Given the description of an element on the screen output the (x, y) to click on. 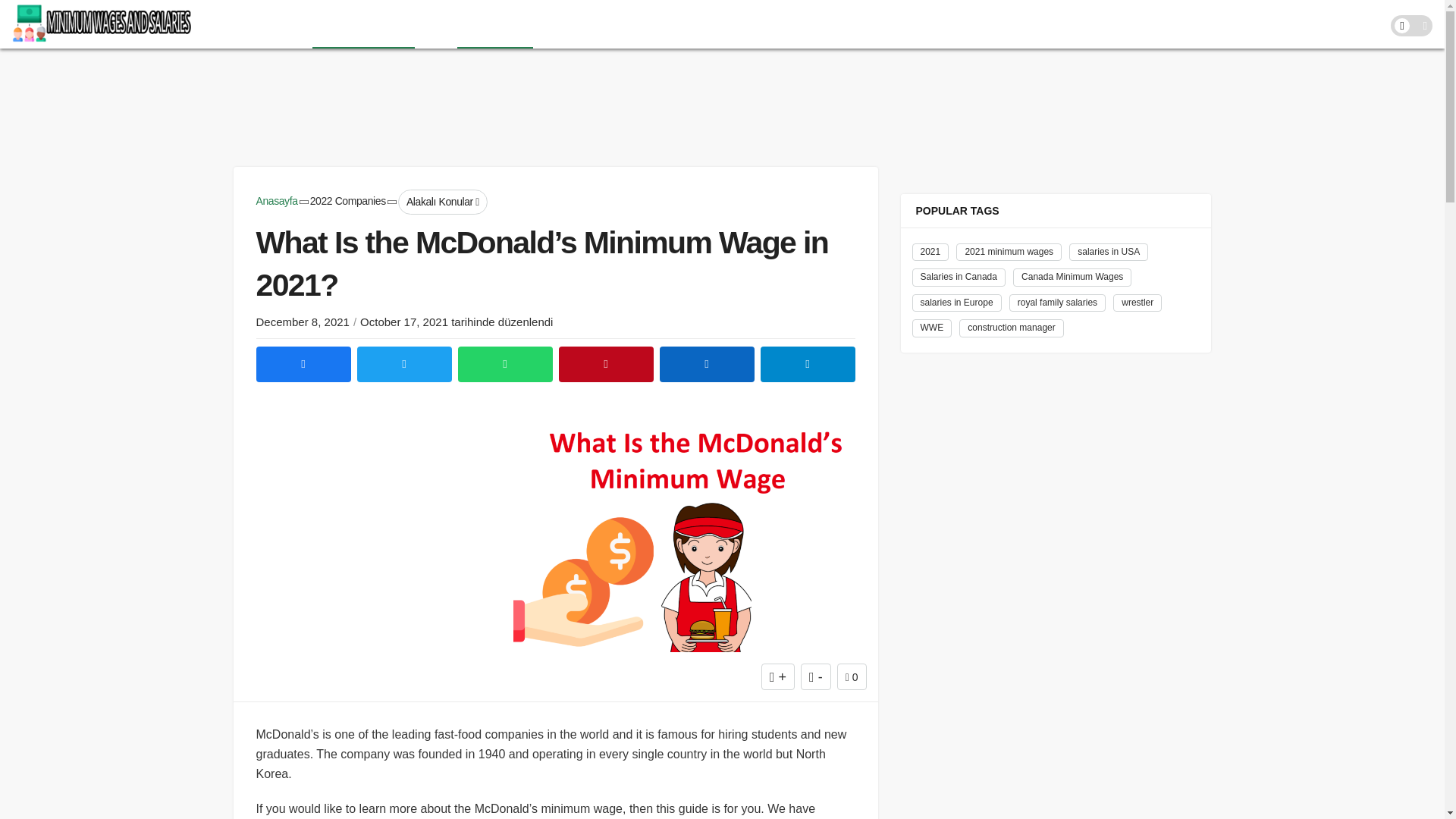
0 (851, 676)
2022 Companies (347, 200)
Companies (494, 24)
- (815, 676)
Home (229, 24)
Anasayfa (277, 200)
Minimum Wages (363, 24)
minimum wages and salaries (102, 24)
Salaries (283, 24)
